Given the description of an element on the screen output the (x, y) to click on. 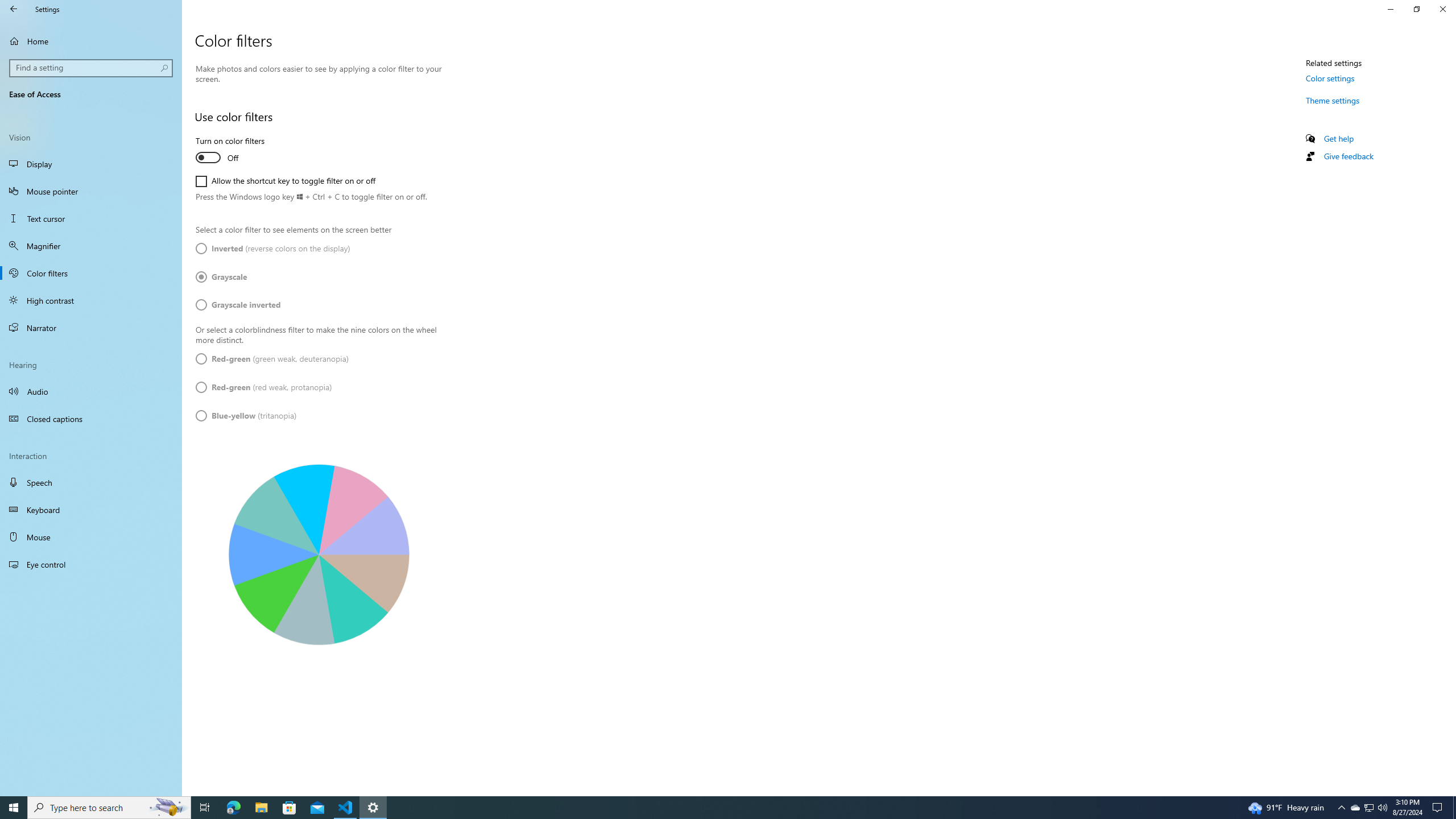
Color settings (1330, 77)
File Explorer (261, 807)
Type here to search (108, 807)
Mouse pointer (91, 190)
Audio (91, 390)
Mouse (91, 536)
Grayscale inverted (238, 304)
Q2790: 100% (1382, 807)
Allow the shortcut key to toggle filter on or off (285, 180)
Microsoft Edge (233, 807)
Display (91, 163)
Get help (1338, 138)
Action Center, No new notifications (1439, 807)
